Given the description of an element on the screen output the (x, y) to click on. 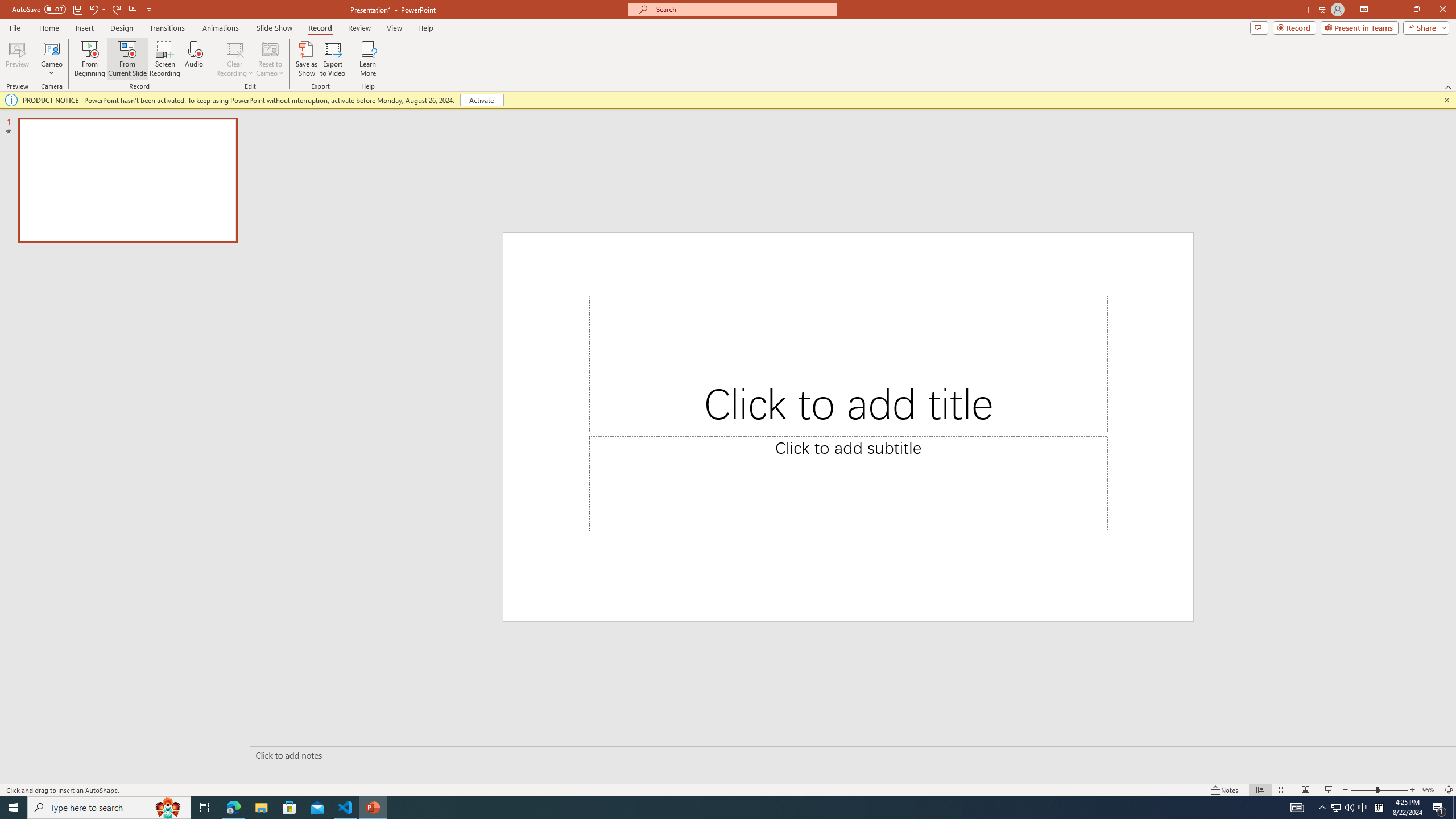
Learn More (368, 58)
Export to Video (332, 58)
Audio (193, 58)
Activate (481, 100)
Save as Show (306, 58)
